Given the description of an element on the screen output the (x, y) to click on. 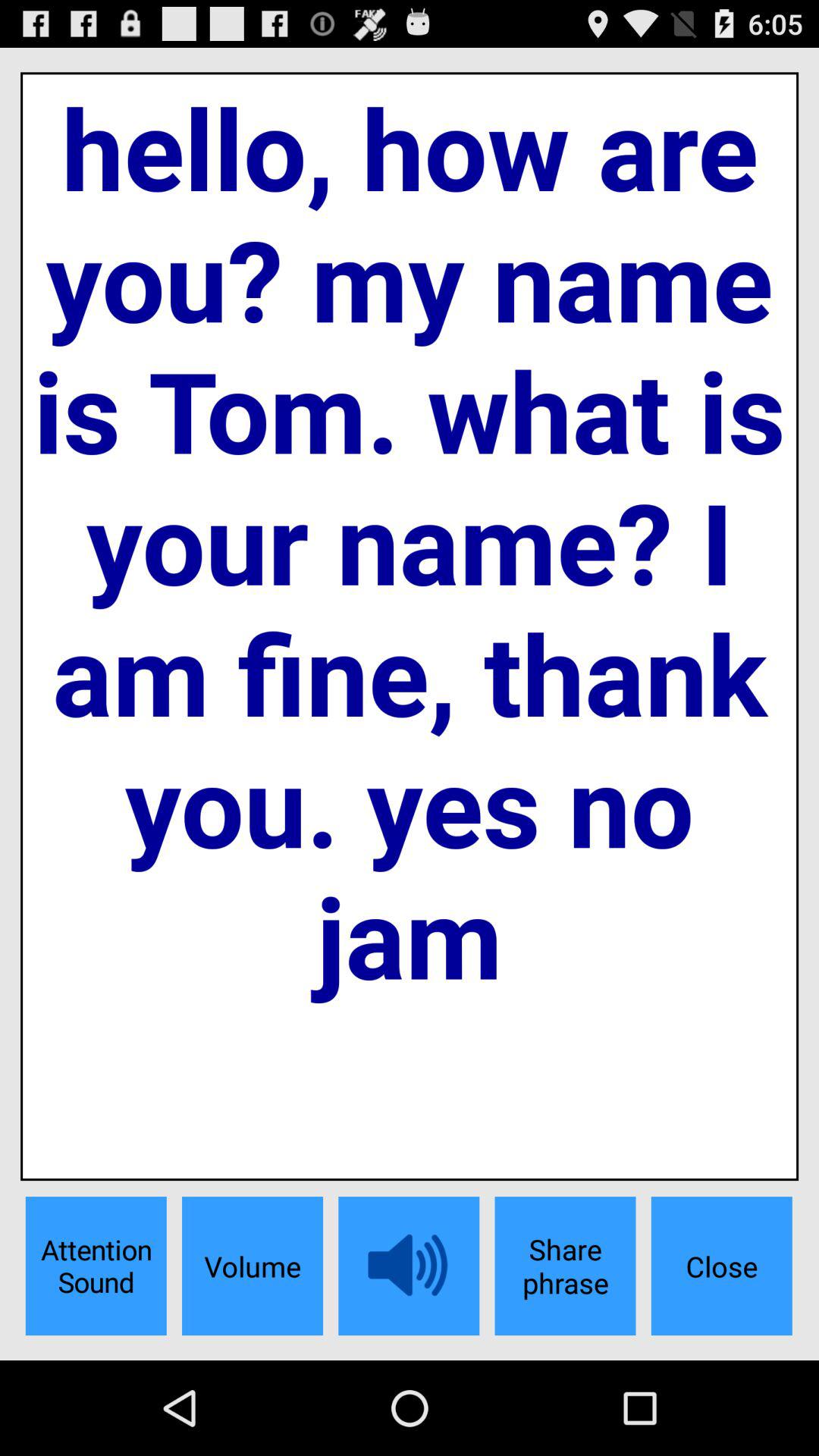
choose attention sound item (95, 1265)
